Given the description of an element on the screen output the (x, y) to click on. 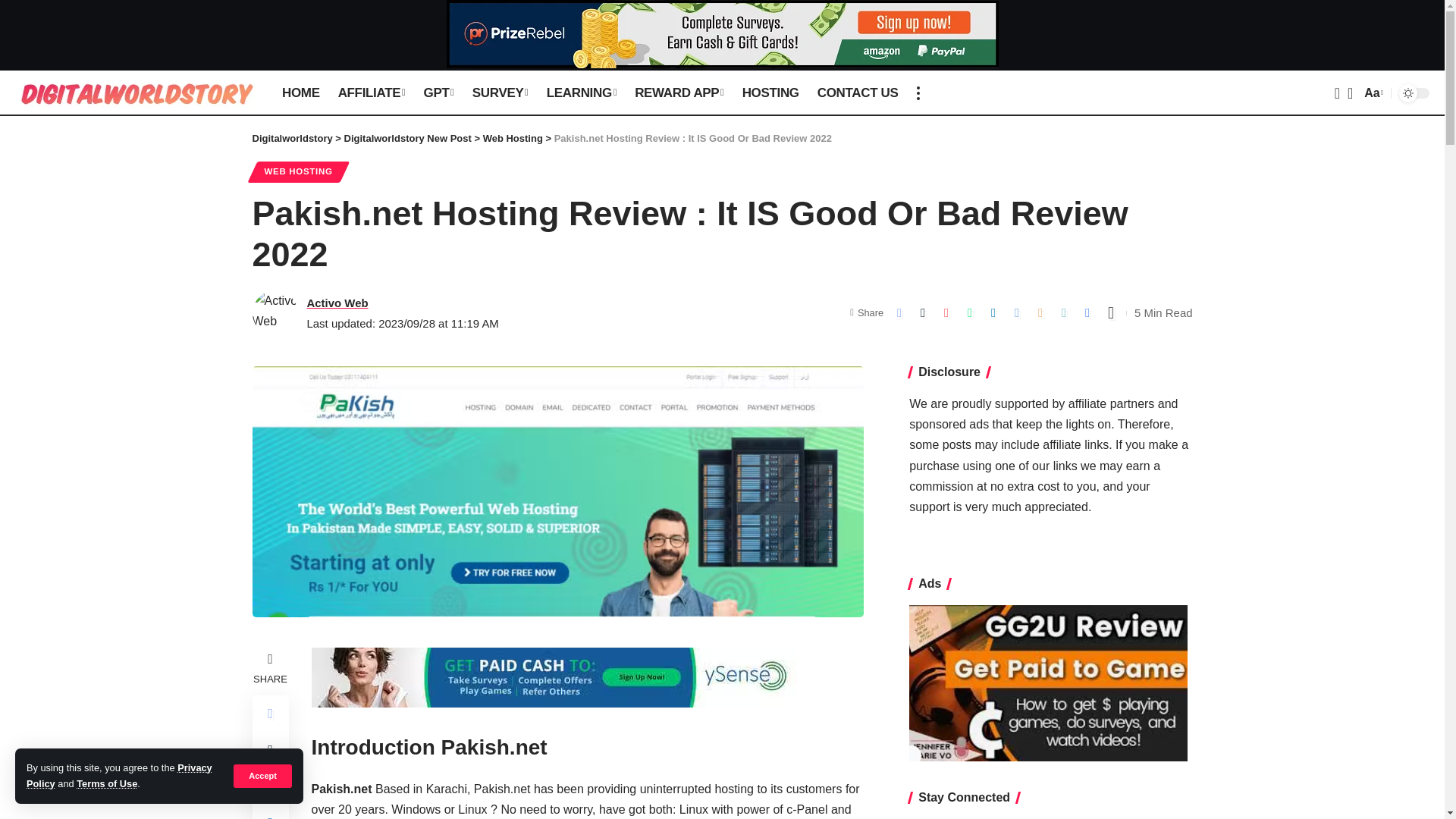
Privacy Policy (119, 775)
SURVEY (500, 93)
HOME (301, 93)
GPT (438, 93)
Terms of Use (106, 783)
Accept (262, 775)
Digitalworldstory (135, 92)
AFFILIATE (371, 93)
